Given the description of an element on the screen output the (x, y) to click on. 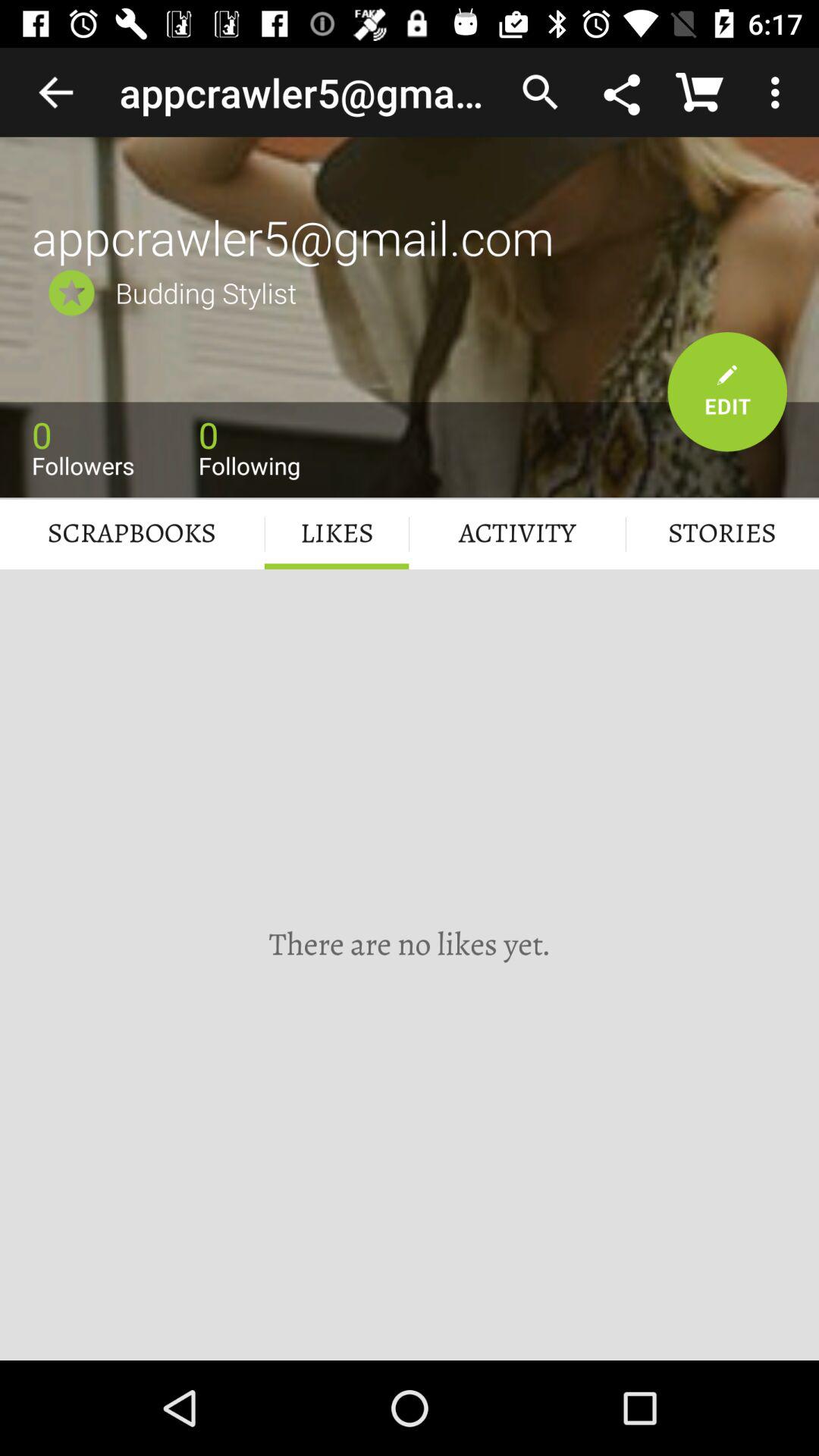
share the page (623, 91)
